Given the description of an element on the screen output the (x, y) to click on. 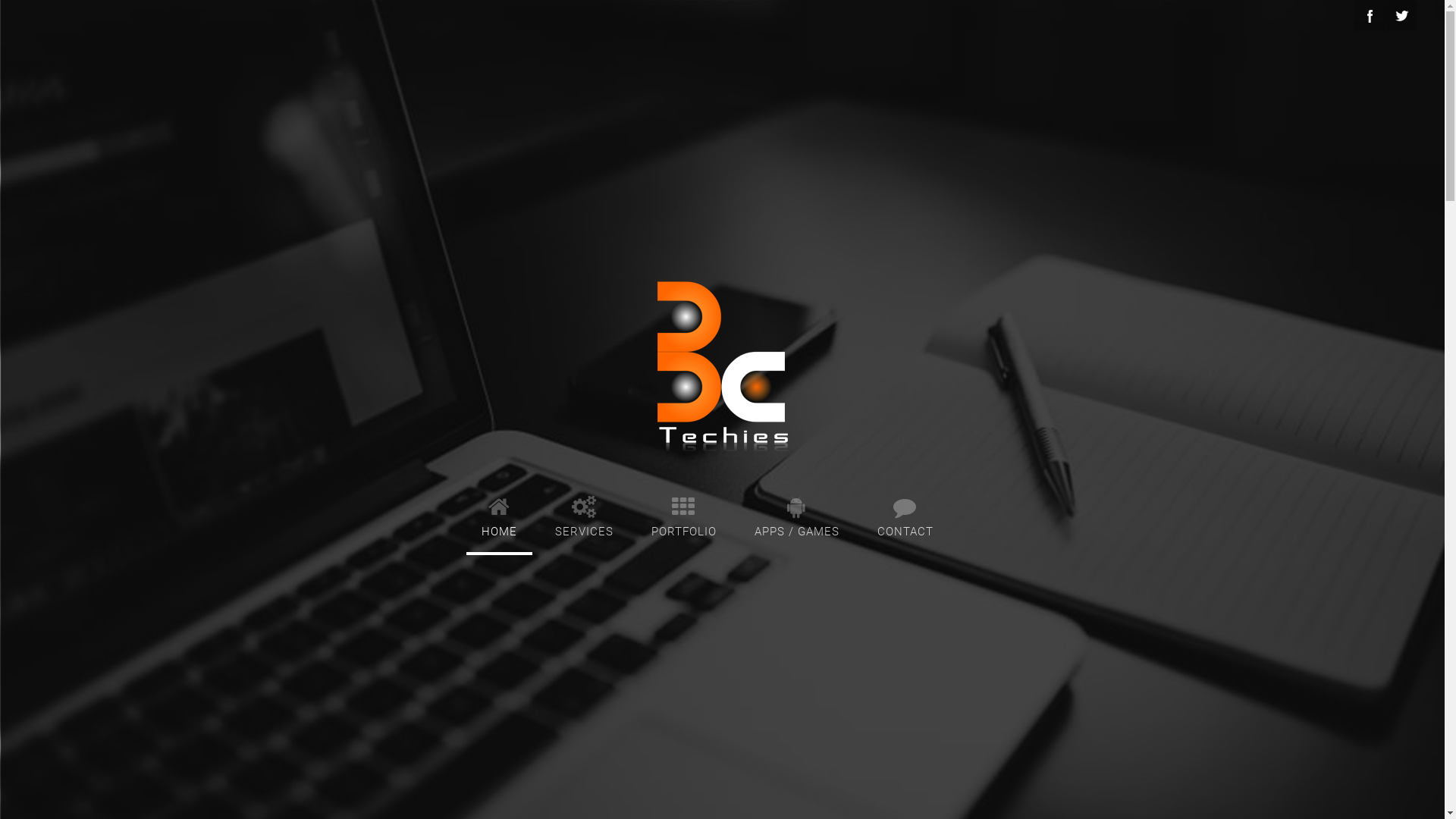
PORTFOLIO Element type: text (683, 514)
APPS / GAMES Element type: text (795, 514)
HOME Element type: text (498, 514)
Facebook Element type: hover (1369, 15)
SERVICES Element type: text (583, 514)
Twitter Element type: hover (1400, 15)
CONTACT Element type: text (904, 514)
